Given the description of an element on the screen output the (x, y) to click on. 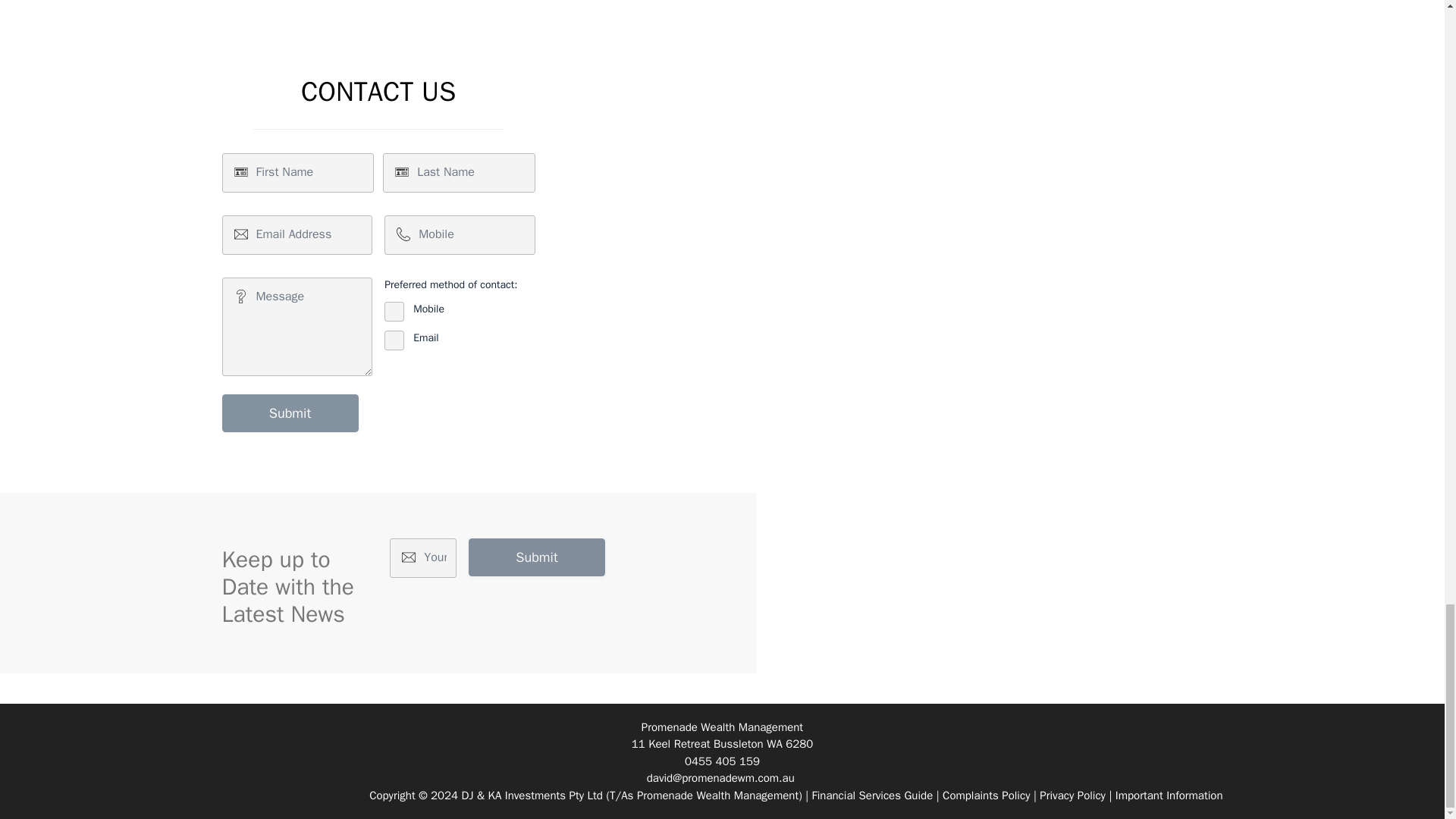
Mobile (394, 311)
Complaints Policy (985, 795)
Privacy Policy (1072, 795)
Submit (536, 557)
Email (394, 340)
Submit (289, 412)
Submit (536, 557)
Important Information (1169, 795)
Financial Services Guide (872, 795)
Submit (289, 412)
